Given the description of an element on the screen output the (x, y) to click on. 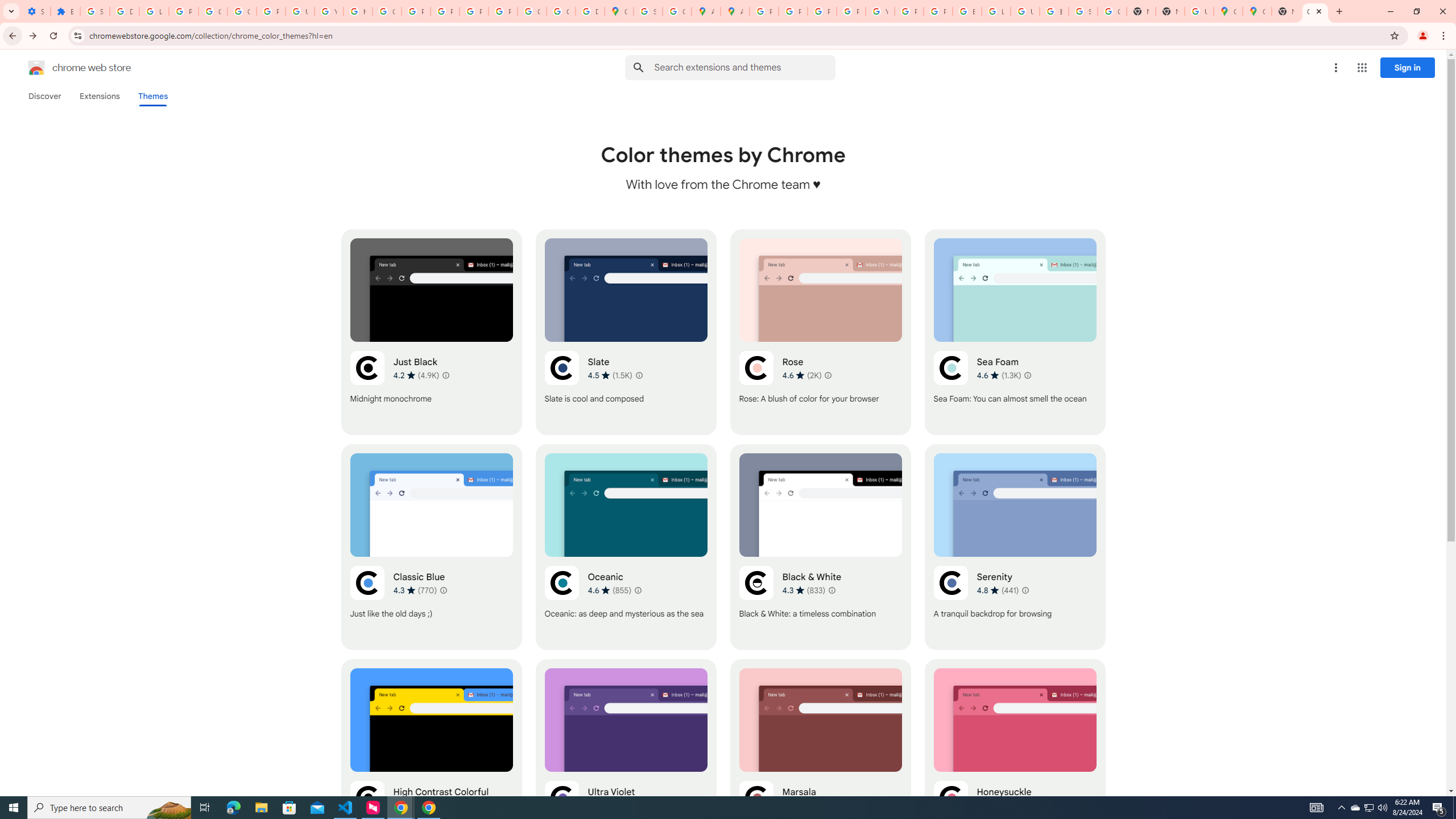
Privacy Help Center - Policies Help (415, 11)
Chrome Web Store logo chrome web store (67, 67)
Create your Google Account (677, 11)
Learn more about results and reviews "Just Black" (445, 375)
Google Maps (619, 11)
Settings - On startup (35, 11)
More options menu (1335, 67)
